Given the description of an element on the screen output the (x, y) to click on. 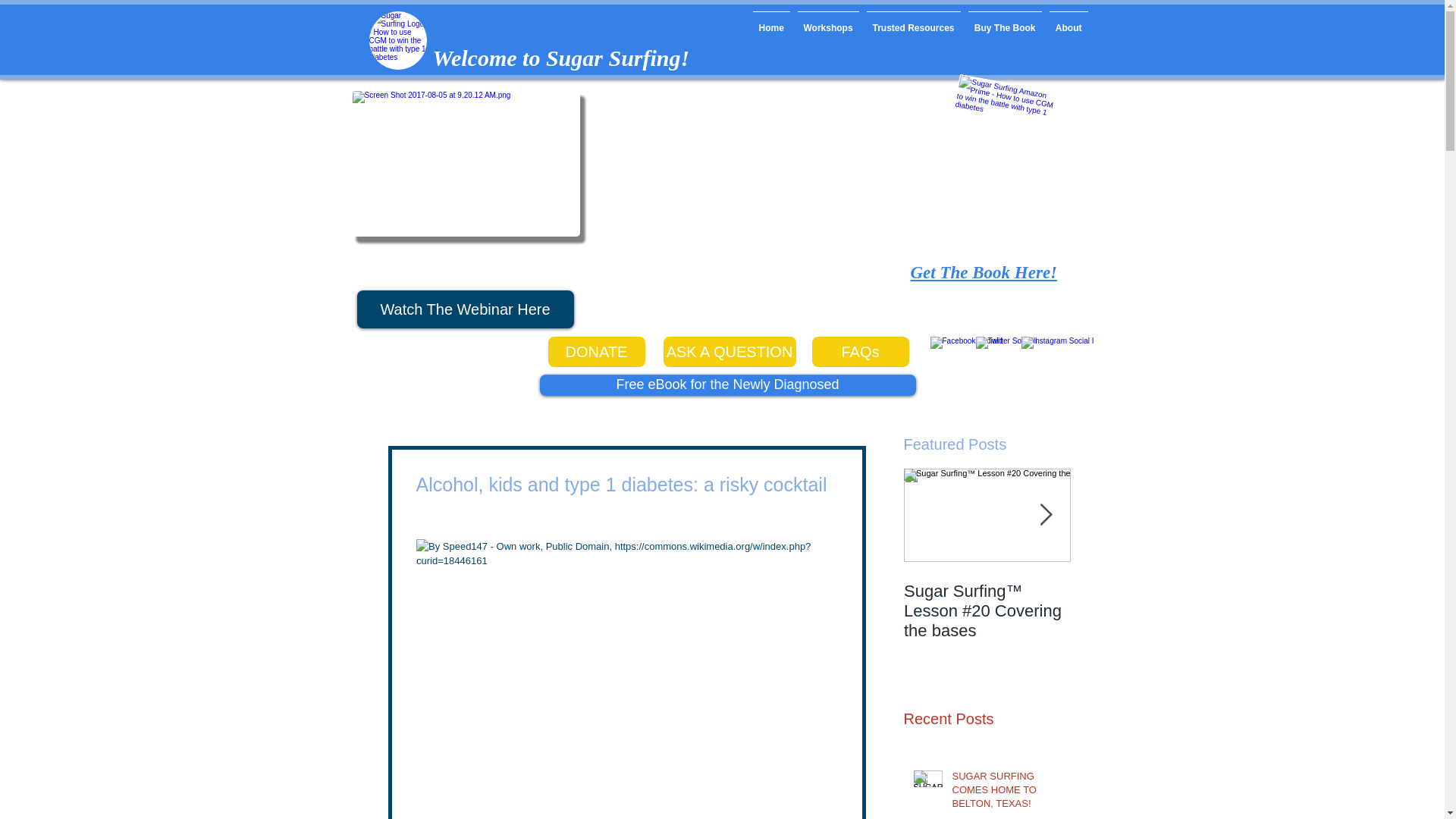
Free eBook for the Newly Diagnosed (727, 384)
FAQs (859, 351)
Watch The Webinar Here (464, 309)
ASK A QUESTION (728, 351)
About (1067, 21)
Trusted Resources (913, 21)
Workshops (827, 21)
Learn how to use your CGM (397, 40)
Home (771, 21)
Get The Book Here! (983, 271)
